Given the description of an element on the screen output the (x, y) to click on. 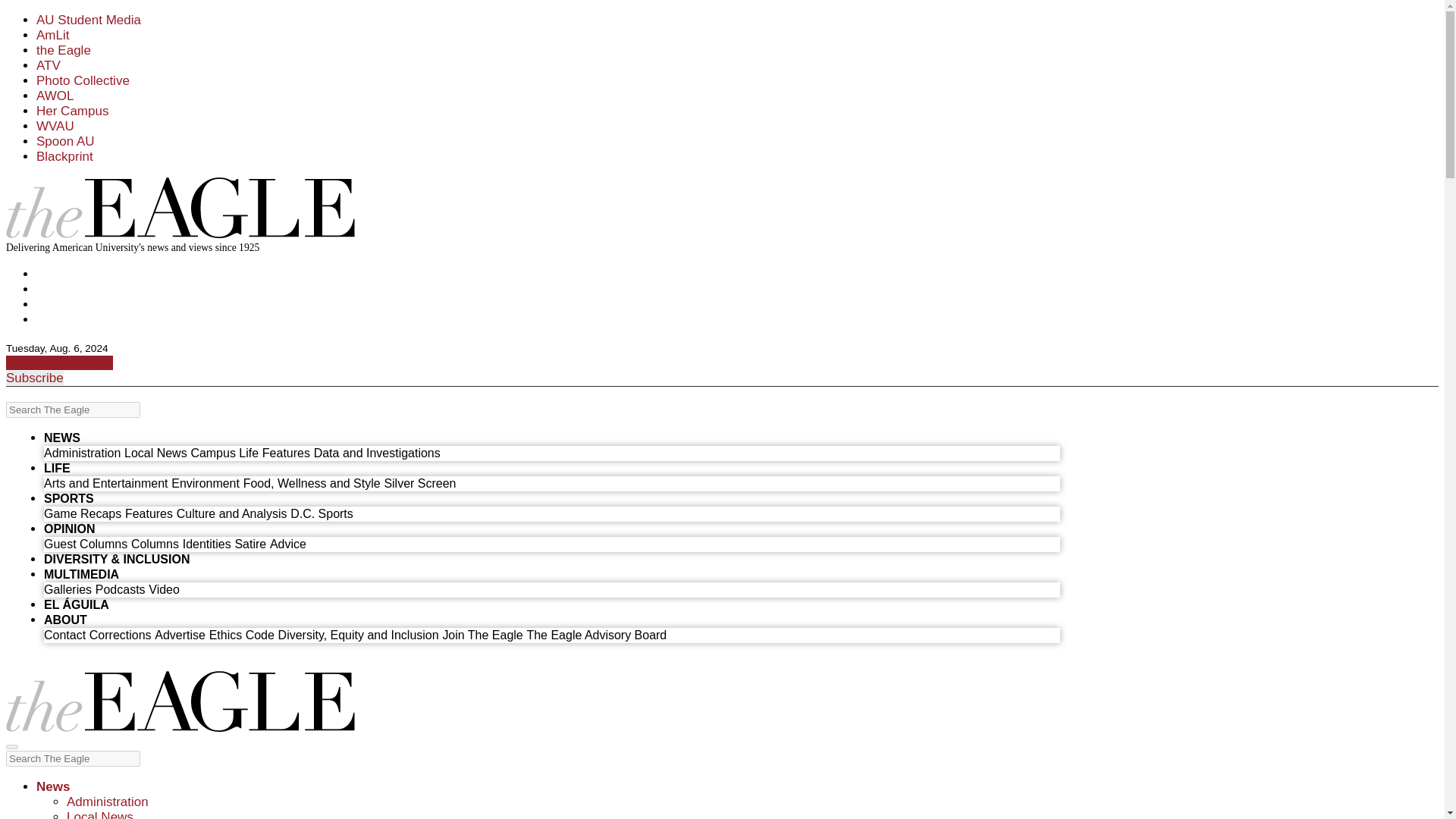
SPORTS (68, 498)
Data and Investigations (377, 452)
Photo Collective (82, 80)
ATV (48, 65)
AmLit (52, 34)
WVAU (55, 125)
Features (149, 513)
Blackprint (64, 156)
Arts and Entertainment (105, 482)
Administration (81, 452)
